Given the description of an element on the screen output the (x, y) to click on. 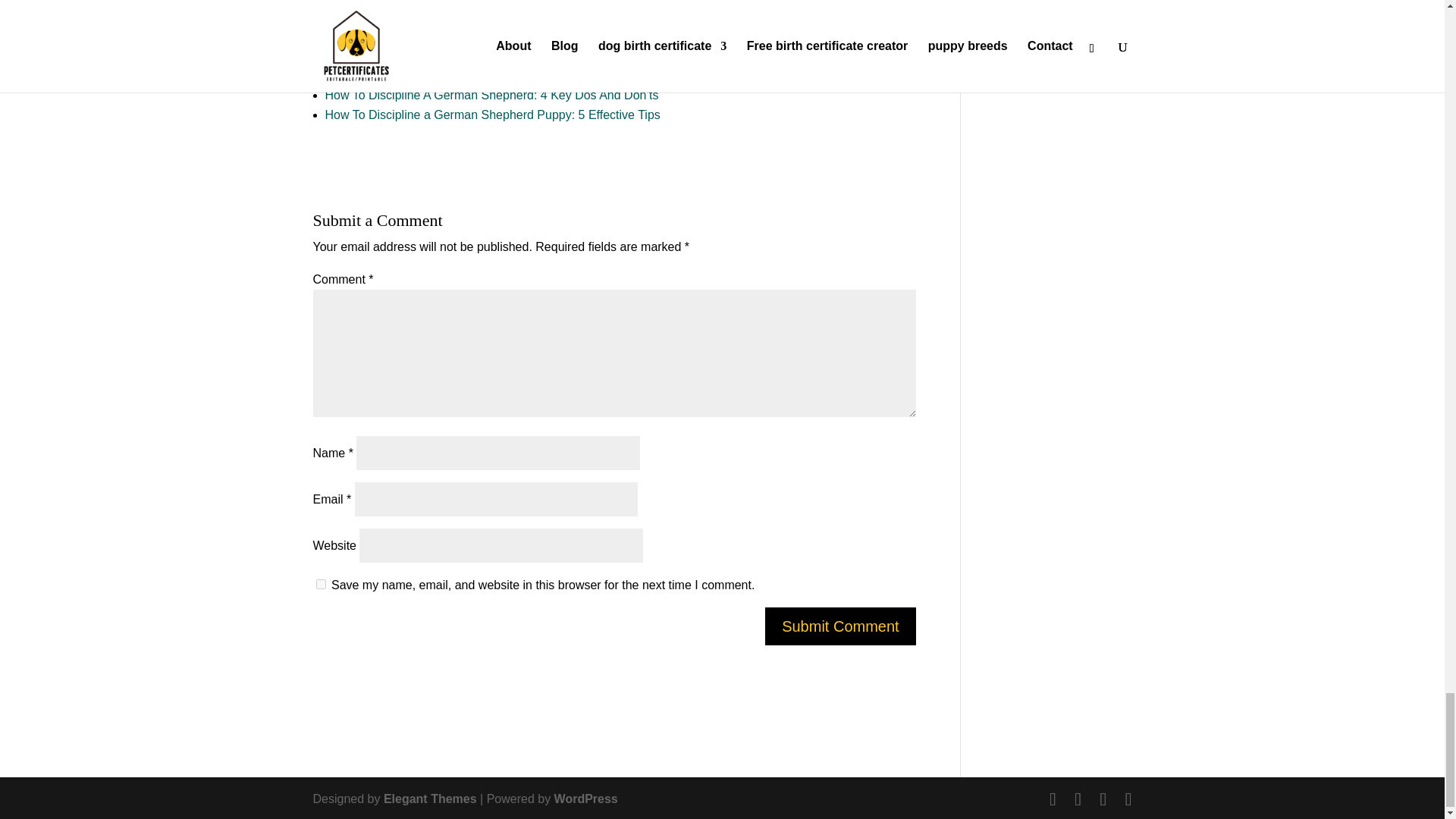
Submit Comment (840, 626)
How To Discipline A German Shepherd Puppy (447, 35)
Premium WordPress Themes (430, 798)
How To Discipline a German Shepherd Puppy: 5 Effective Tips (491, 114)
5 Safe Ways to Discipline a German Shepherd Without Force (488, 55)
yes (319, 583)
Submit Comment (840, 626)
